Given the description of an element on the screen output the (x, y) to click on. 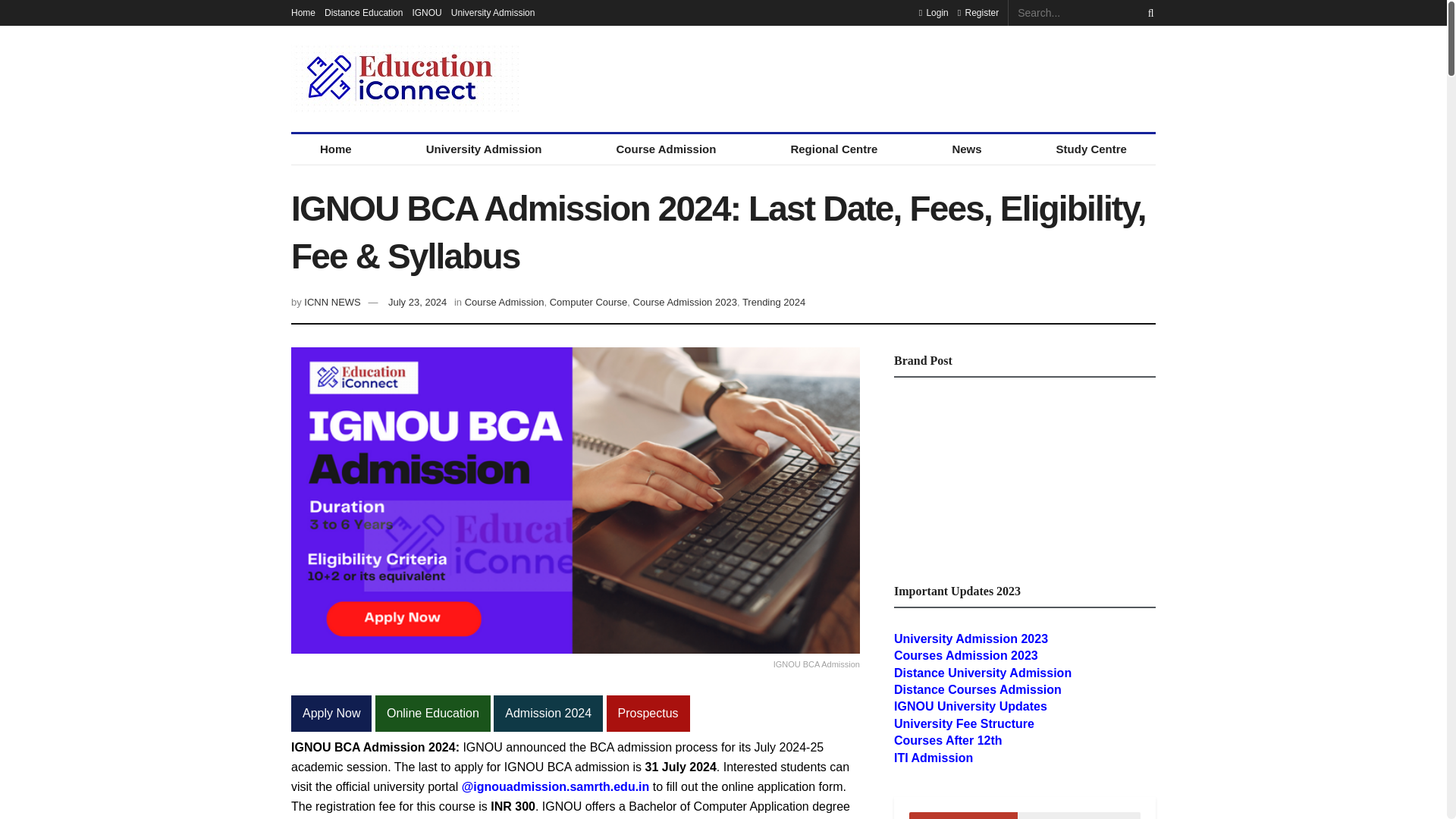
Home (335, 149)
Regional Centre (833, 149)
Distance Education (363, 12)
Computer Course (588, 301)
University Admission (493, 12)
Register (978, 12)
University Admission (483, 149)
Course Admission 2023 (684, 301)
Home (303, 12)
Trending 2024 (773, 301)
Login (933, 12)
IGNOU (426, 12)
July 23, 2024 (417, 301)
Study Centre (1091, 149)
